Given the description of an element on the screen output the (x, y) to click on. 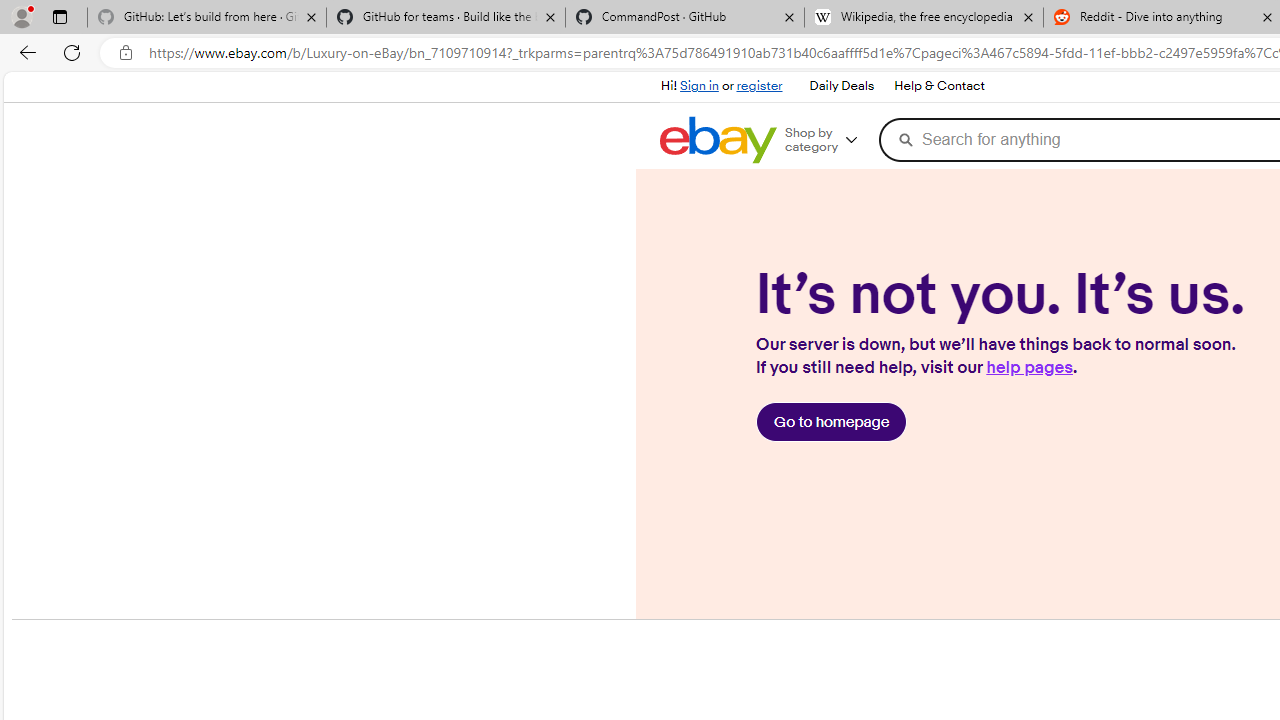
Shop by category (829, 140)
Daily Deals (840, 85)
Go to homepage (831, 421)
Wikipedia, the free encyclopedia (924, 17)
Help & Contact (939, 86)
help pages (1028, 367)
eBay Home (718, 139)
register (759, 85)
